Given the description of an element on the screen output the (x, y) to click on. 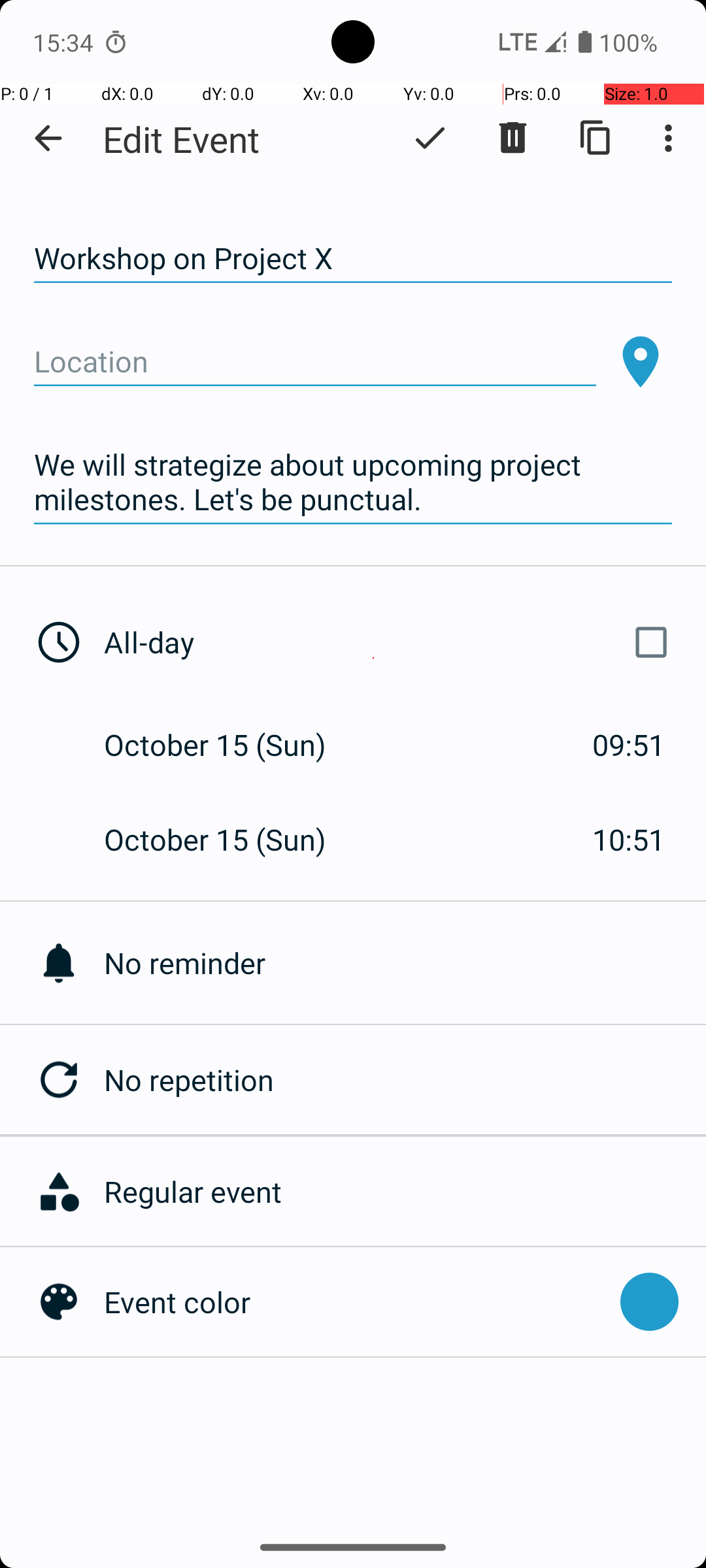
We will strategize about upcoming project milestones. Let's be punctual. Element type: android.widget.EditText (352, 482)
09:51 Element type: android.widget.TextView (628, 744)
10:51 Element type: android.widget.TextView (628, 838)
